Given the description of an element on the screen output the (x, y) to click on. 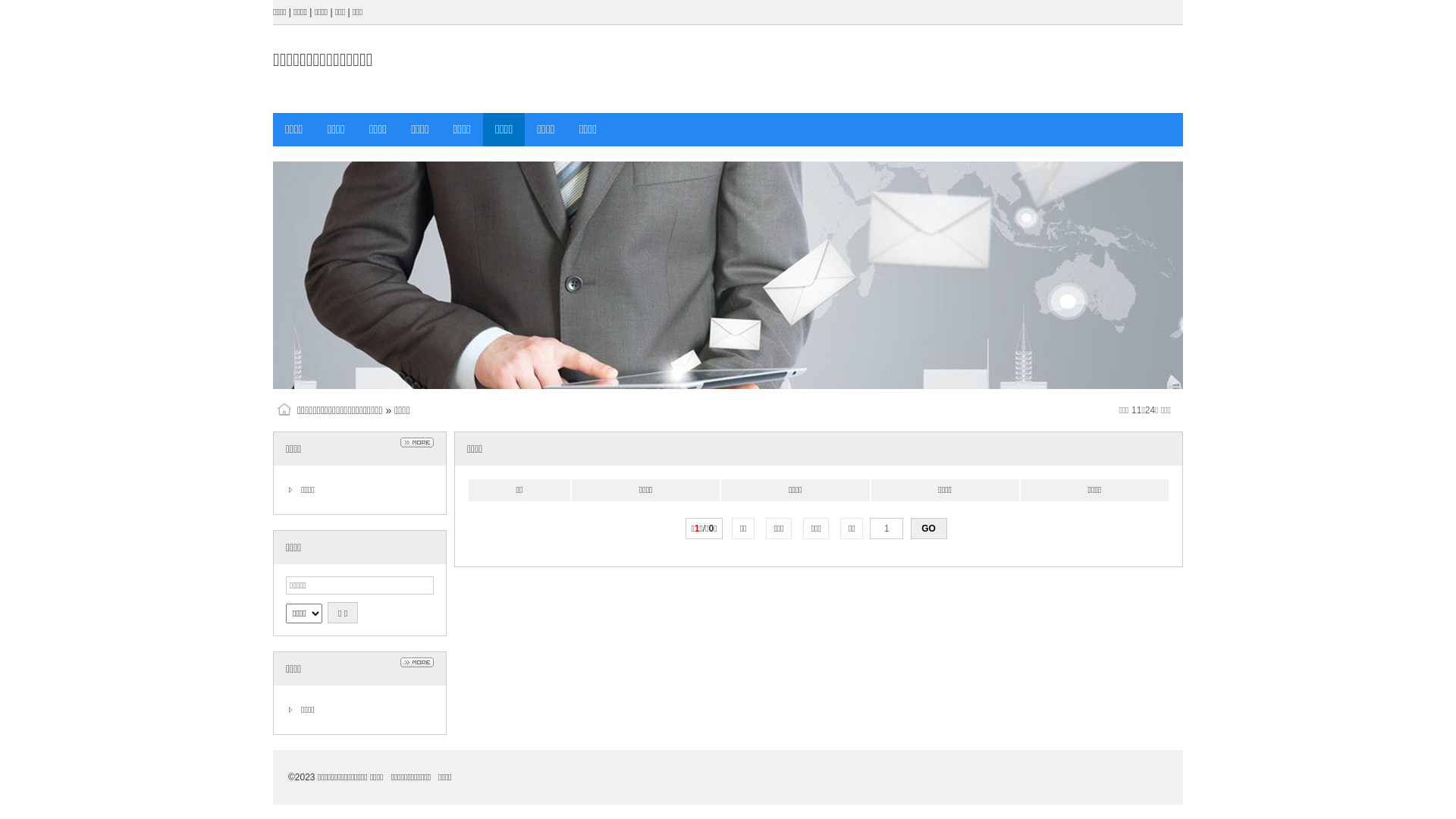
GO Element type: text (928, 528)
